Given the description of an element on the screen output the (x, y) to click on. 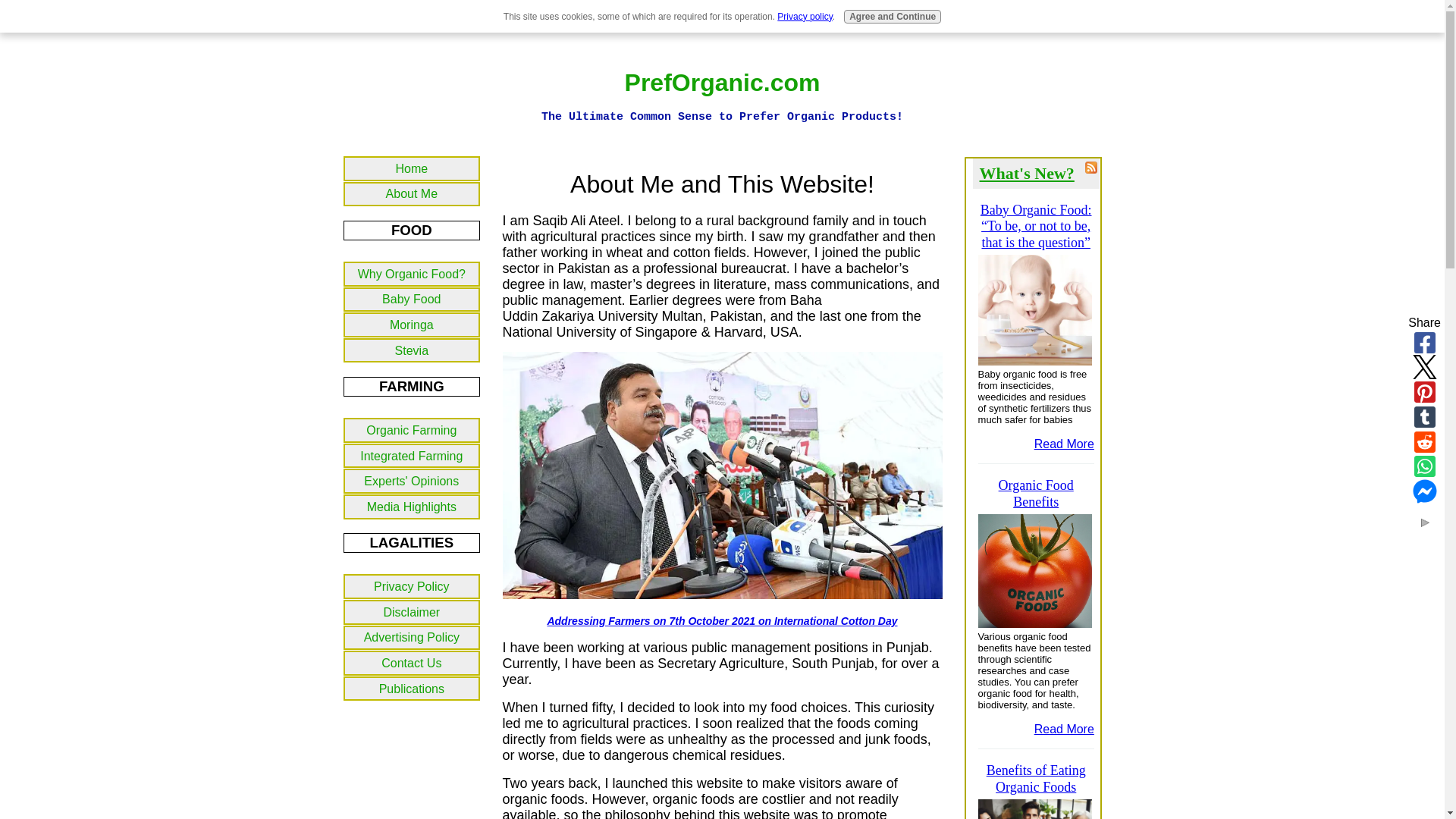
PrefOrganic.com (722, 82)
Privacy Policy (411, 586)
Moringa (411, 324)
About Me (411, 194)
Publications (411, 688)
What's New? (1026, 172)
Integrated Farming (411, 455)
Baby Food (411, 299)
Experts' Opinions (411, 480)
Advertising Policy (411, 637)
Read More (1063, 443)
Disclaimer (411, 611)
Contact Us (411, 662)
Media Highlights (411, 506)
